Given the description of an element on the screen output the (x, y) to click on. 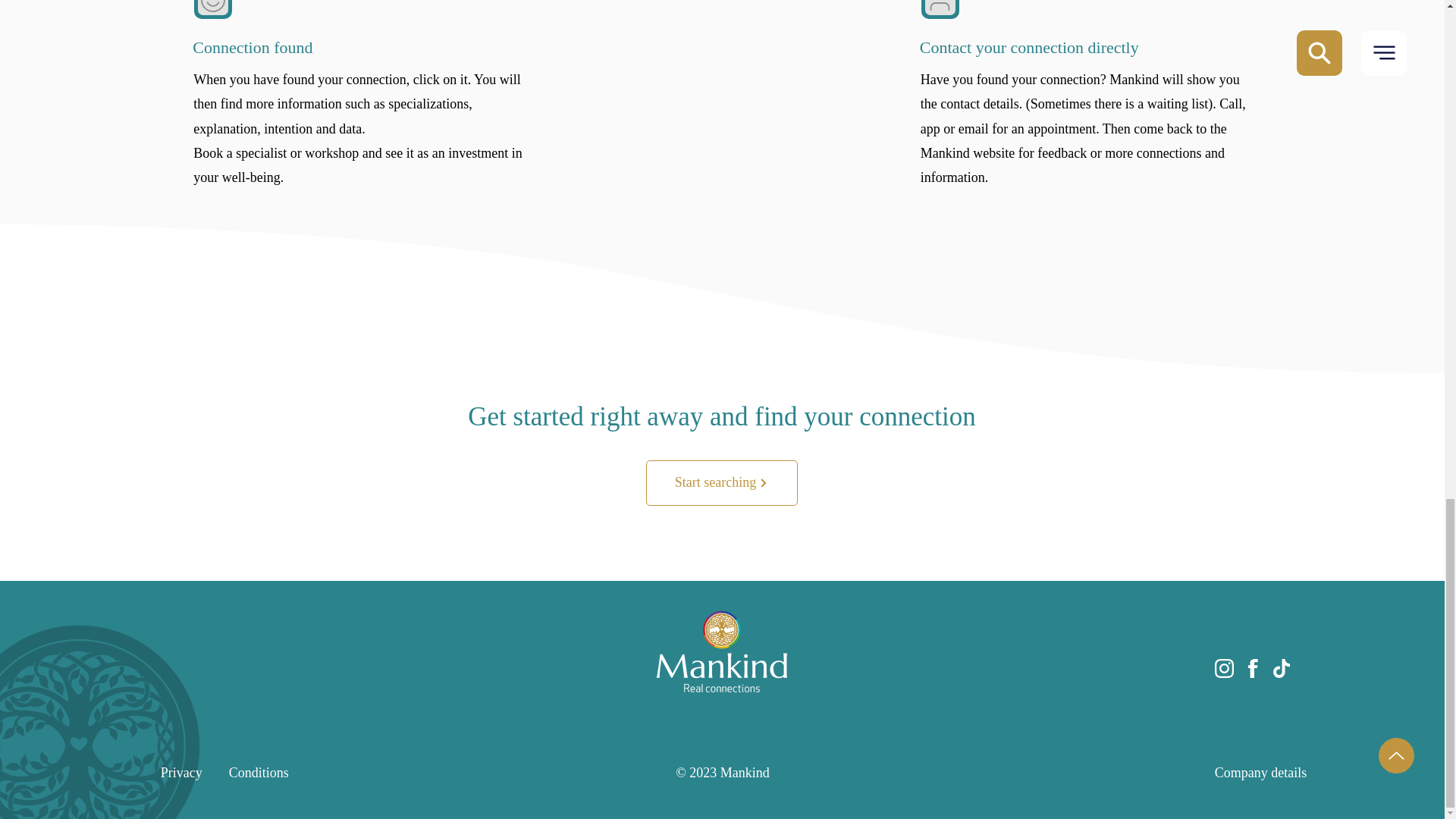
Company details (1260, 772)
Privacy (181, 772)
Conditions (258, 772)
Wix support By Marko (721, 796)
Start searching (721, 483)
